Given the description of an element on the screen output the (x, y) to click on. 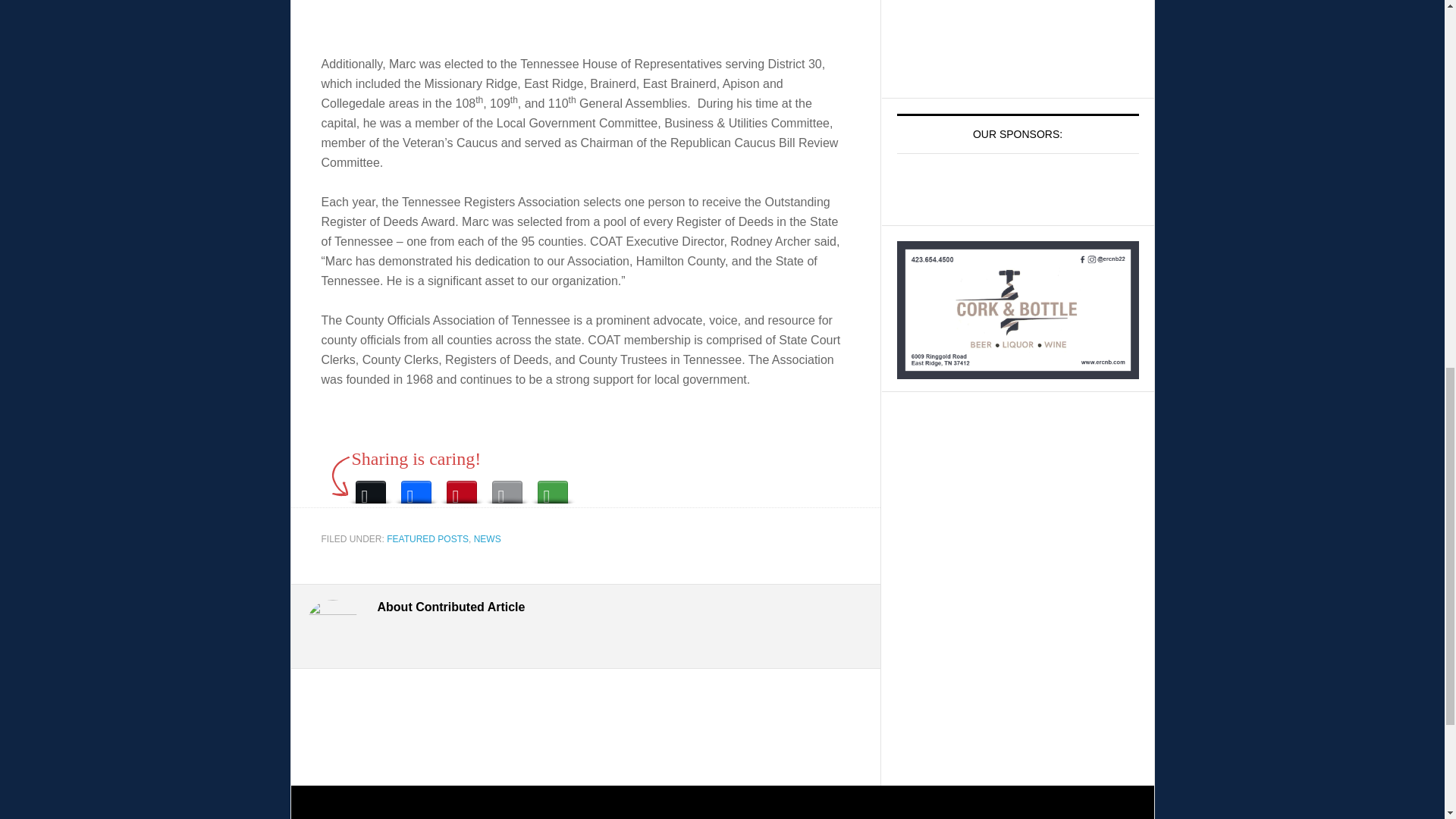
NEWS (487, 538)
Pinterest (460, 487)
FEATURED POSTS (427, 538)
More Options (552, 487)
Advertisement (1017, 41)
Email This (506, 487)
Facebook (415, 487)
Advertisement (585, 17)
